Given the description of an element on the screen output the (x, y) to click on. 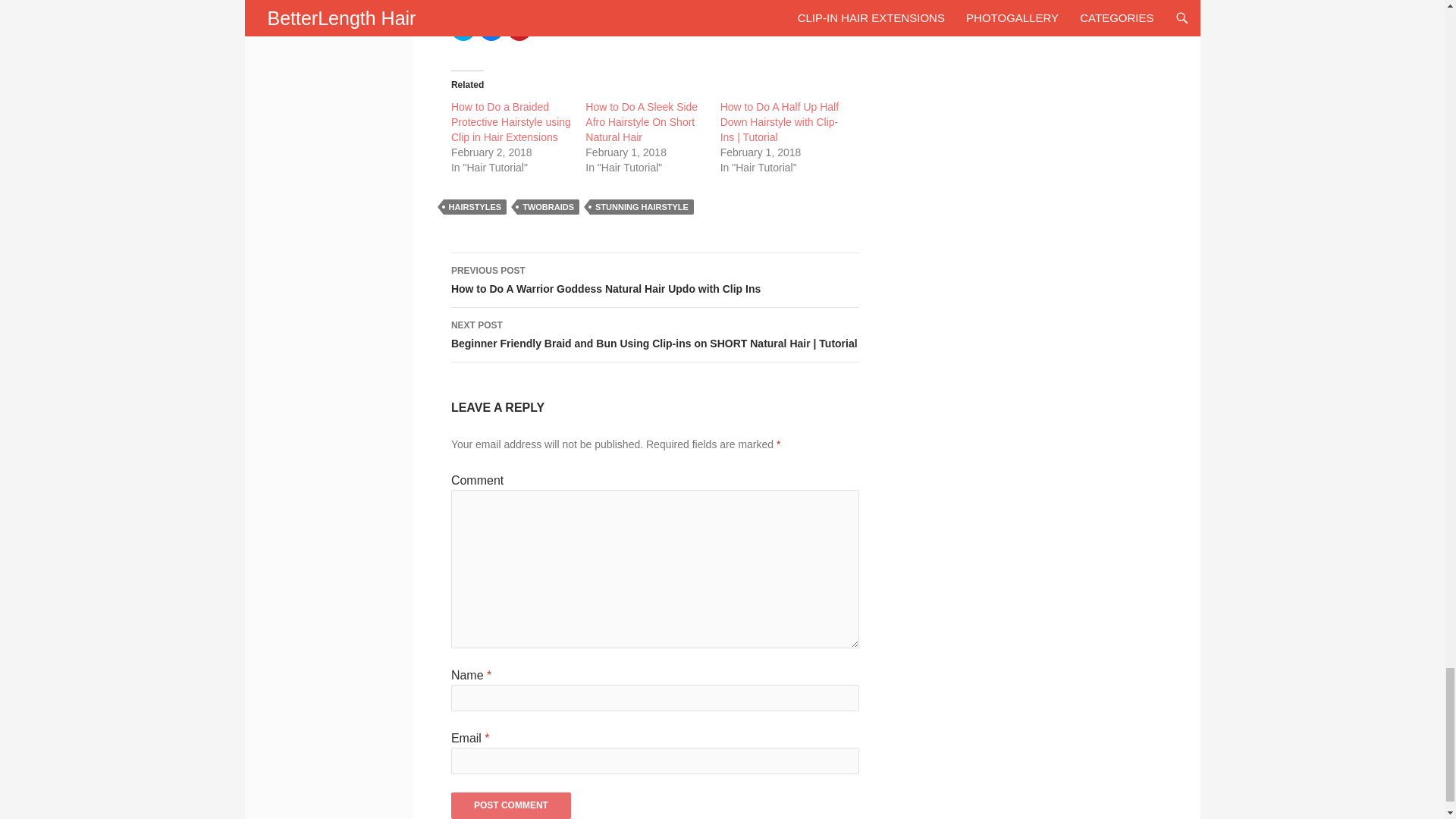
TWOBRAIDS (547, 206)
How to Do A Sleek Side Afro Hairstyle On Short Natural Hair (641, 121)
STUNNING HAIRSTYLE (641, 206)
HAIRSTYLES (474, 206)
